Given the description of an element on the screen output the (x, y) to click on. 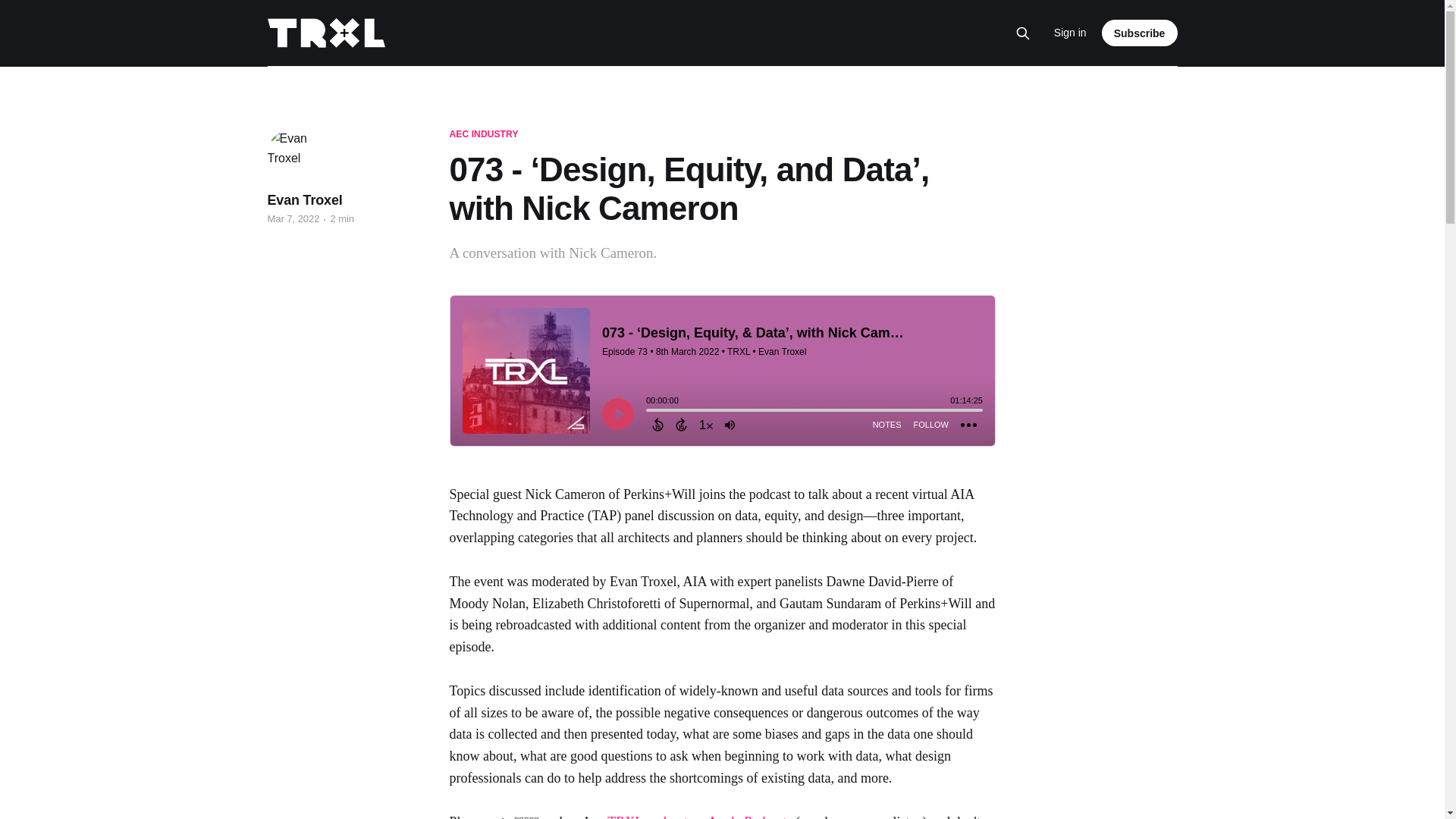
Evan Troxel (304, 199)
TRXL podcast on Apple Podcasts (699, 816)
Sign in (1070, 32)
Subscribe (1139, 32)
AEC INDUSTRY (483, 134)
